Given the description of an element on the screen output the (x, y) to click on. 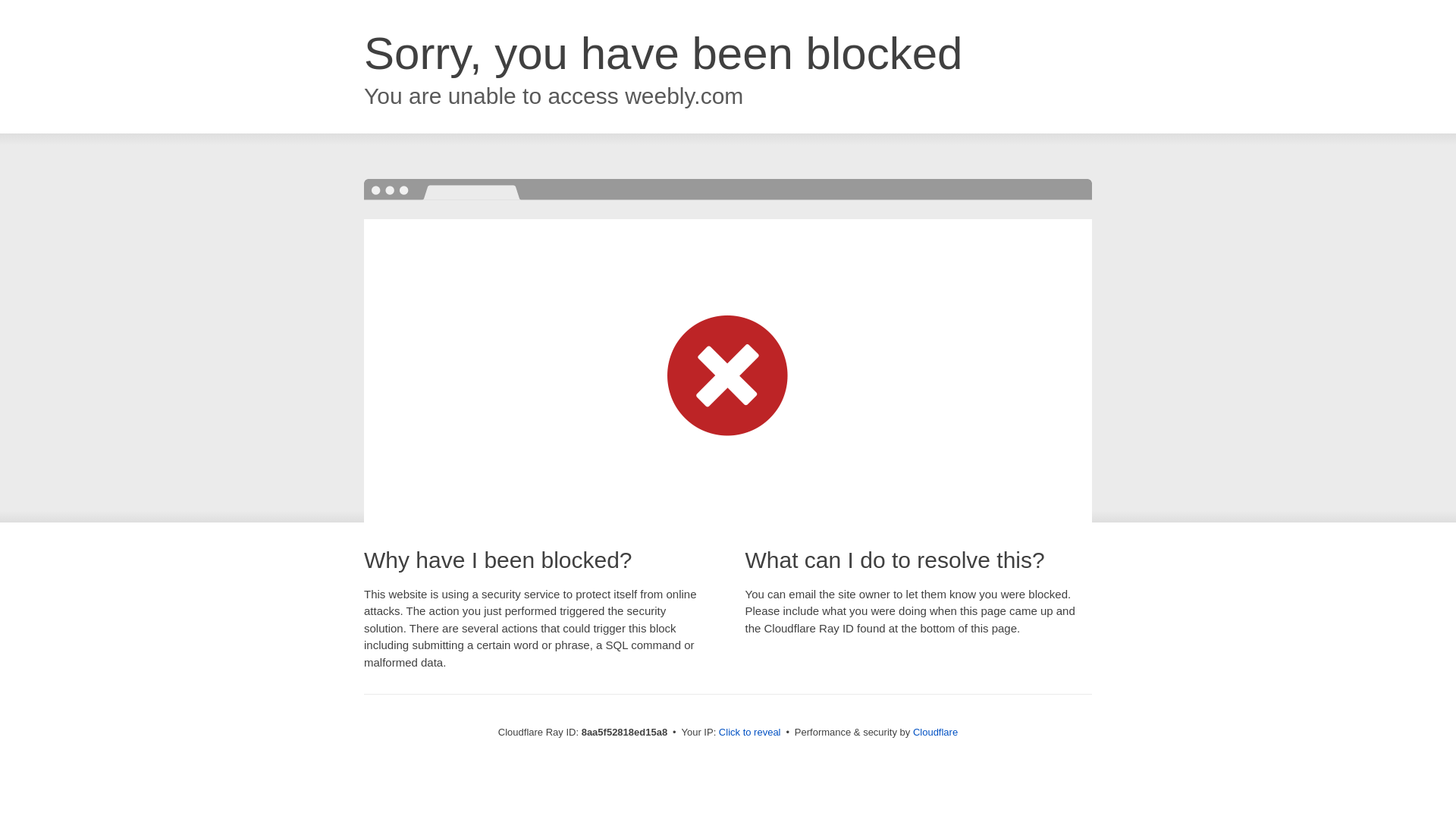
Click to reveal (749, 732)
Cloudflare (935, 731)
